Given the description of an element on the screen output the (x, y) to click on. 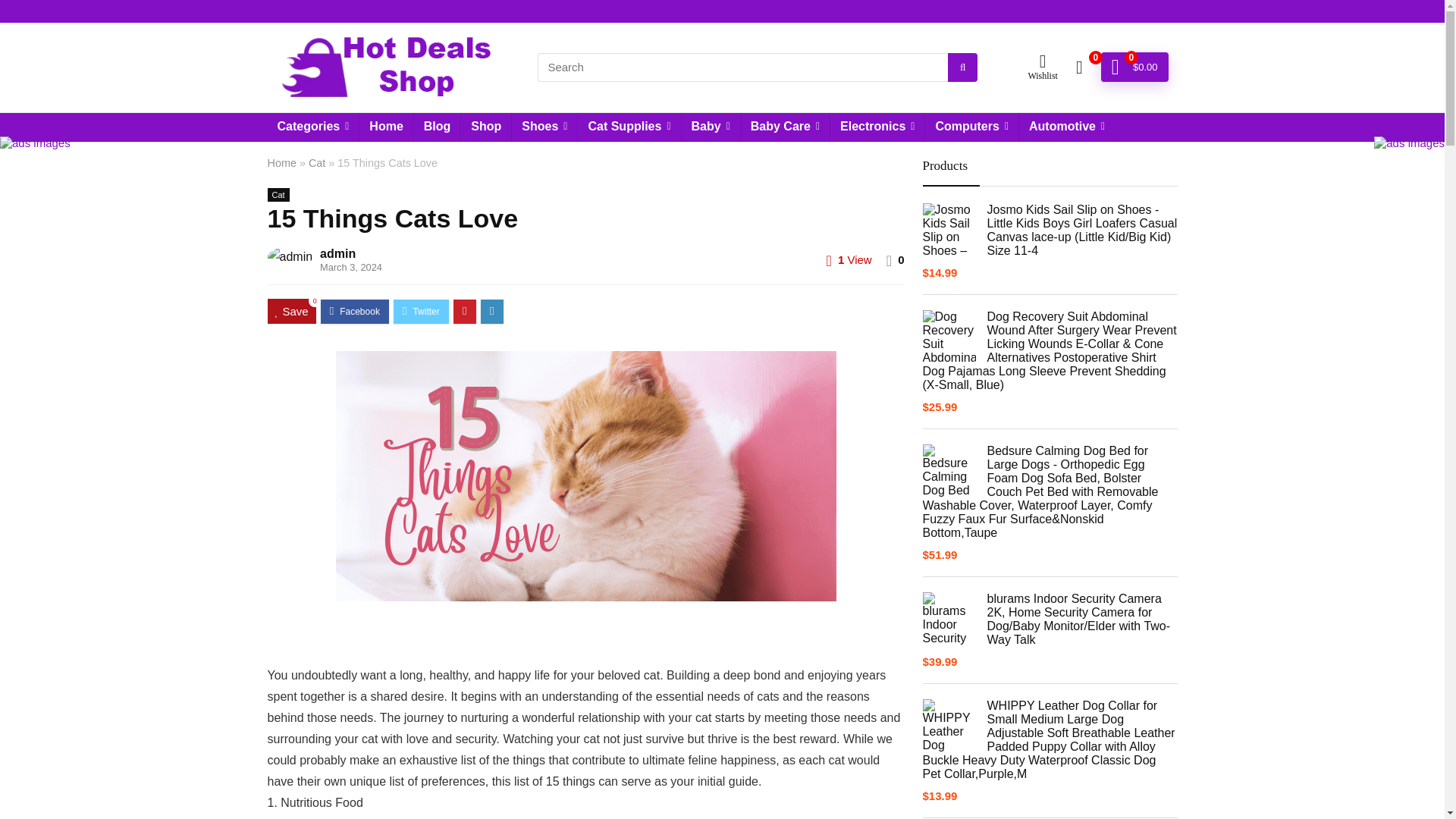
Shop (486, 127)
Home (385, 127)
Categories (312, 127)
15 Things Cats Love (584, 476)
Cat Supplies (628, 127)
View all posts in Cat (277, 194)
Blog (437, 127)
Shoes (544, 127)
